Given the description of an element on the screen output the (x, y) to click on. 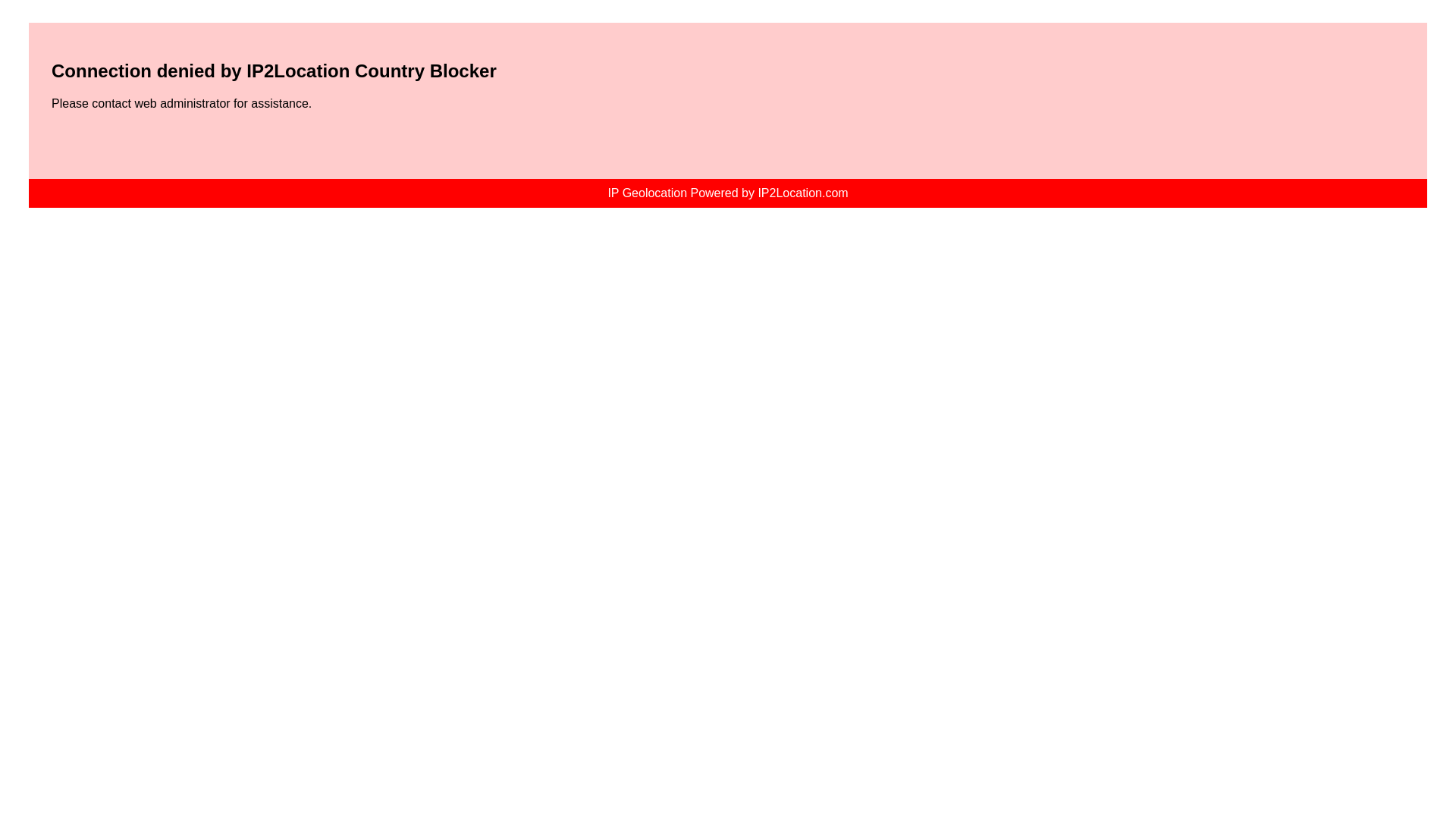
IP Geolocation Powered by IP2Location.com Element type: text (727, 192)
